Given the description of an element on the screen output the (x, y) to click on. 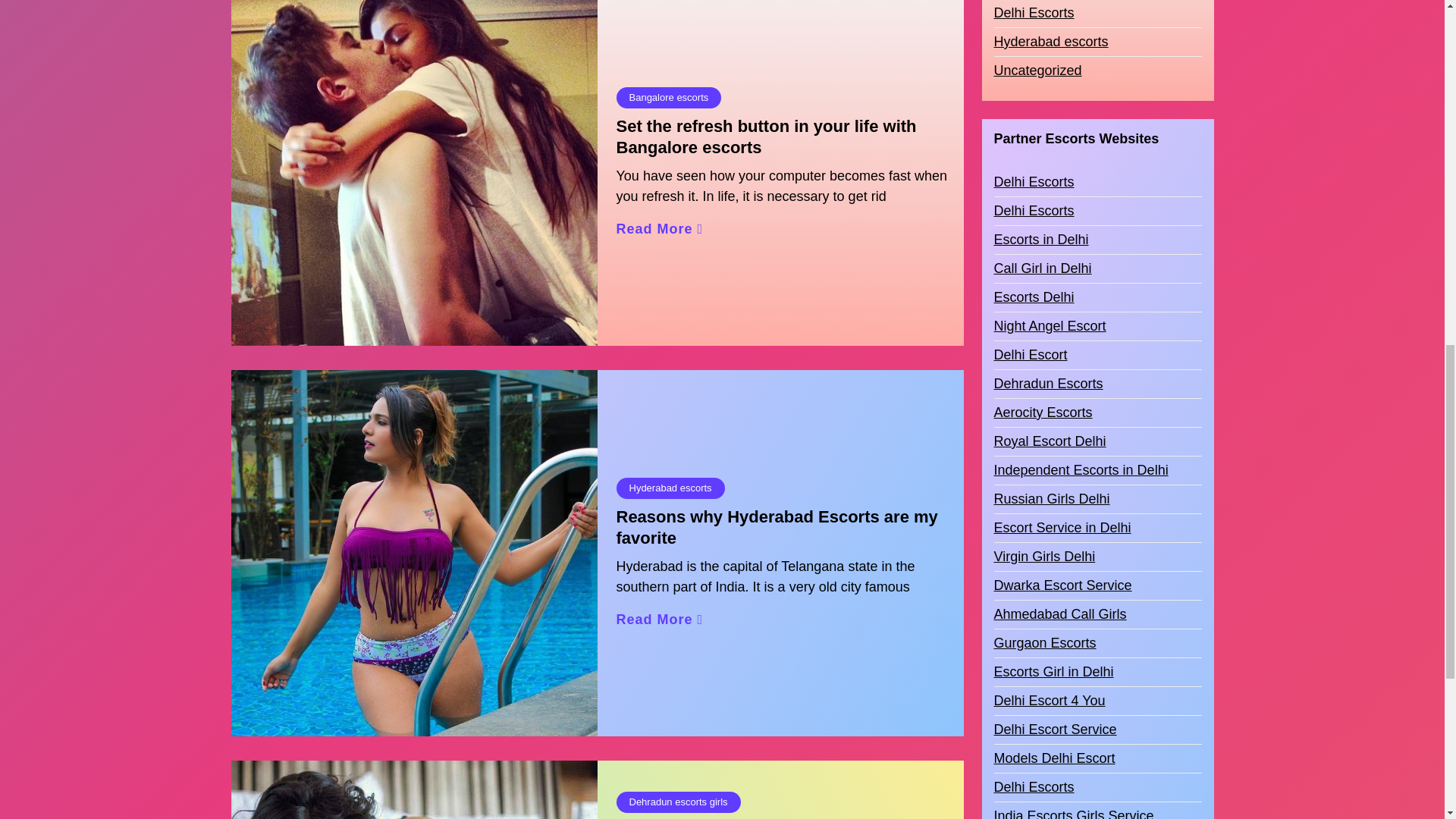
Set the refresh button in your life with Bangalore escorts (785, 137)
Reasons why Hyderabad Escorts are my favorite (785, 527)
Bangalore escorts (667, 97)
Read More (659, 619)
Read More (659, 229)
Dehradun escorts girls (677, 802)
Hyderabad escorts (669, 487)
Delhi Escorts (1033, 86)
Delhi Escorts (1033, 116)
